Given the description of an element on the screen output the (x, y) to click on. 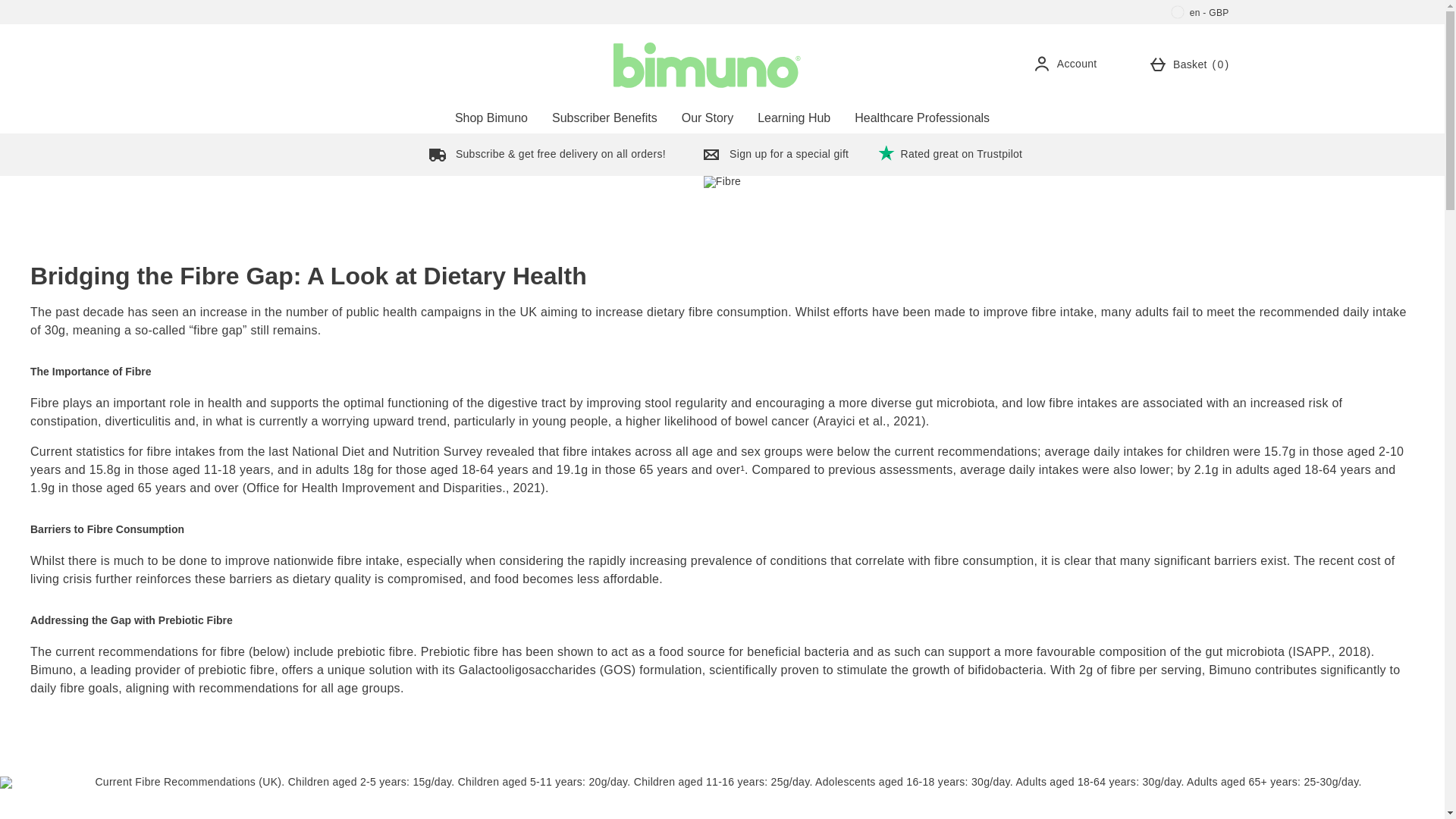
en - GBP (1199, 12)
Shop Bimuno (491, 118)
Learning Hub (794, 118)
Account (1067, 63)
Skip to main content (1191, 63)
Our Story (50, 5)
Subscriber Benefits (707, 118)
